Given the description of an element on the screen output the (x, y) to click on. 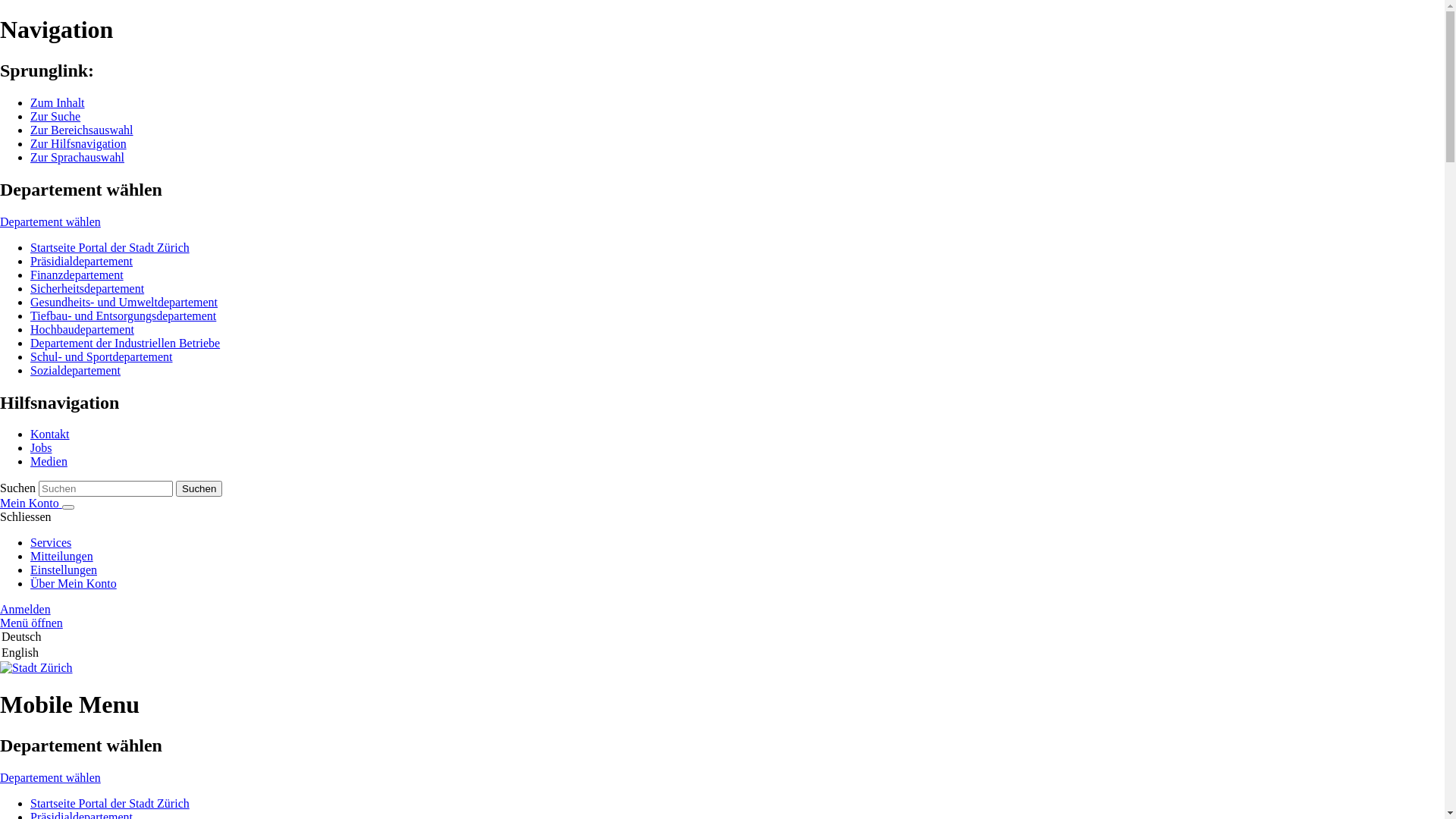
Finanzdepartement Element type: text (76, 274)
Zur Hilfsnavigation Element type: text (78, 143)
Hochbaudepartement Element type: text (82, 329)
Departement der Industriellen Betriebe Element type: text (124, 342)
Suchen Element type: text (198, 488)
Sicherheitsdepartement Element type: text (87, 288)
Zur Suche Element type: text (55, 115)
Sozialdepartement Element type: text (75, 370)
Schliessen Element type: text (25, 516)
Kontakt Element type: text (49, 433)
Tiefbau- und Entsorgungsdepartement Element type: text (123, 315)
Anmelden Element type: text (25, 608)
Zum Inhalt Element type: text (57, 102)
Gesundheits- und Umweltdepartement Element type: text (123, 301)
Jobs Element type: text (40, 447)
Mitteilungen Element type: text (61, 555)
Schul- und Sportdepartement Element type: text (101, 356)
Zur Sprachauswahl Element type: text (77, 156)
Mein Konto Element type: text (31, 502)
Services Element type: text (50, 542)
Einstellungen Element type: text (63, 569)
Medien Element type: text (48, 461)
Zur Bereichsauswahl Element type: text (81, 129)
